Given the description of an element on the screen output the (x, y) to click on. 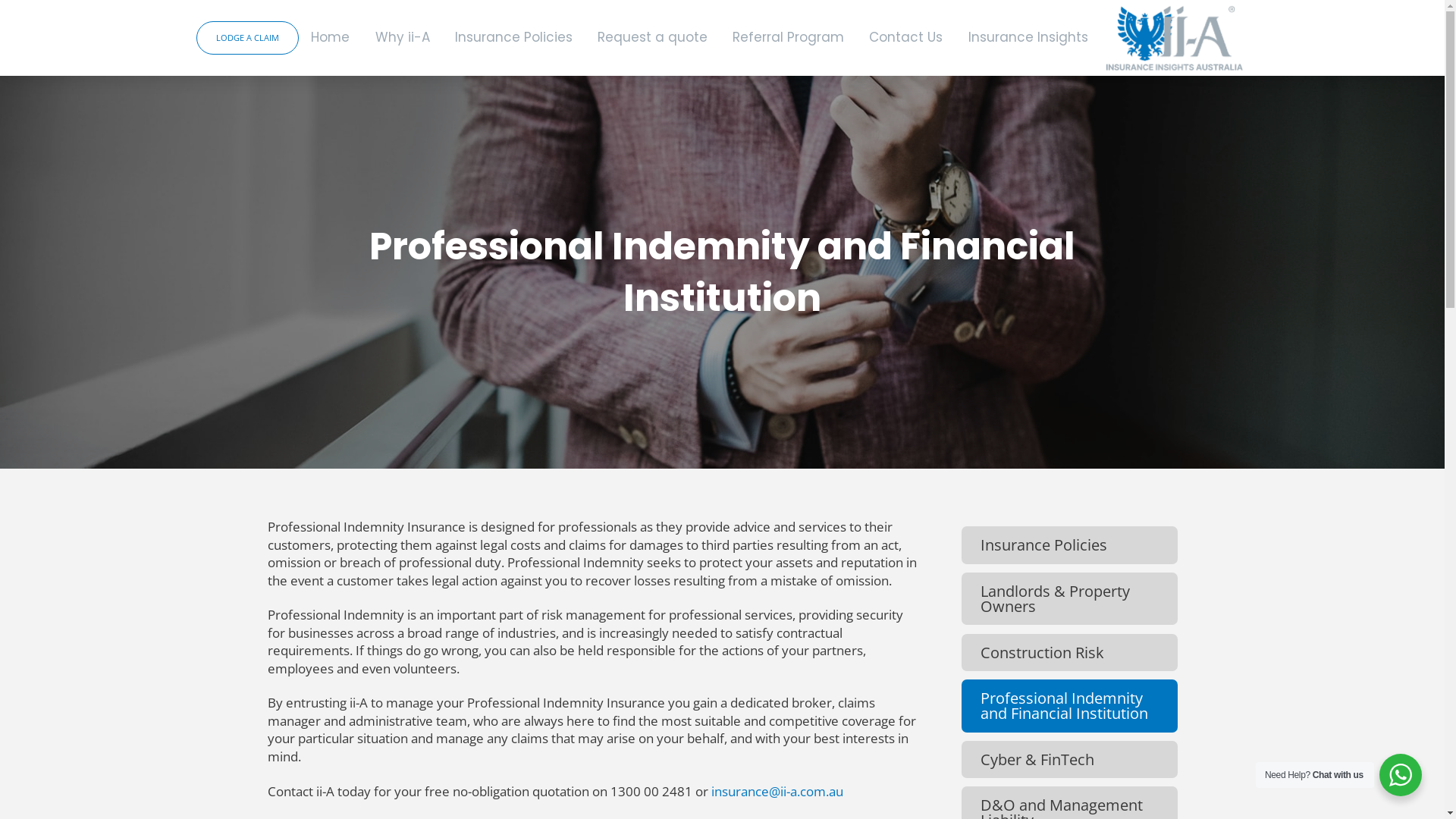
Submit Element type: text (721, 662)
Request a quote Element type: text (651, 37)
Submit Element type: text (721, 680)
Contact Us Element type: text (905, 37)
Referral Program Element type: text (788, 37)
Insurance Policies Element type: text (1069, 545)
Why ii-A Element type: text (402, 37)
Insurance Policies Element type: text (513, 37)
Landlords & Property Owners Element type: text (1069, 598)
Professional Indemnity and Financial Institution Element type: text (1069, 705)
Construction Risk Element type: text (1069, 652)
Cyber & FinTech Element type: text (1069, 759)
Insurance Insights Element type: text (1027, 37)
insurance@ii-a.com.au Element type: text (777, 791)
Home Element type: text (330, 37)
